Given the description of an element on the screen output the (x, y) to click on. 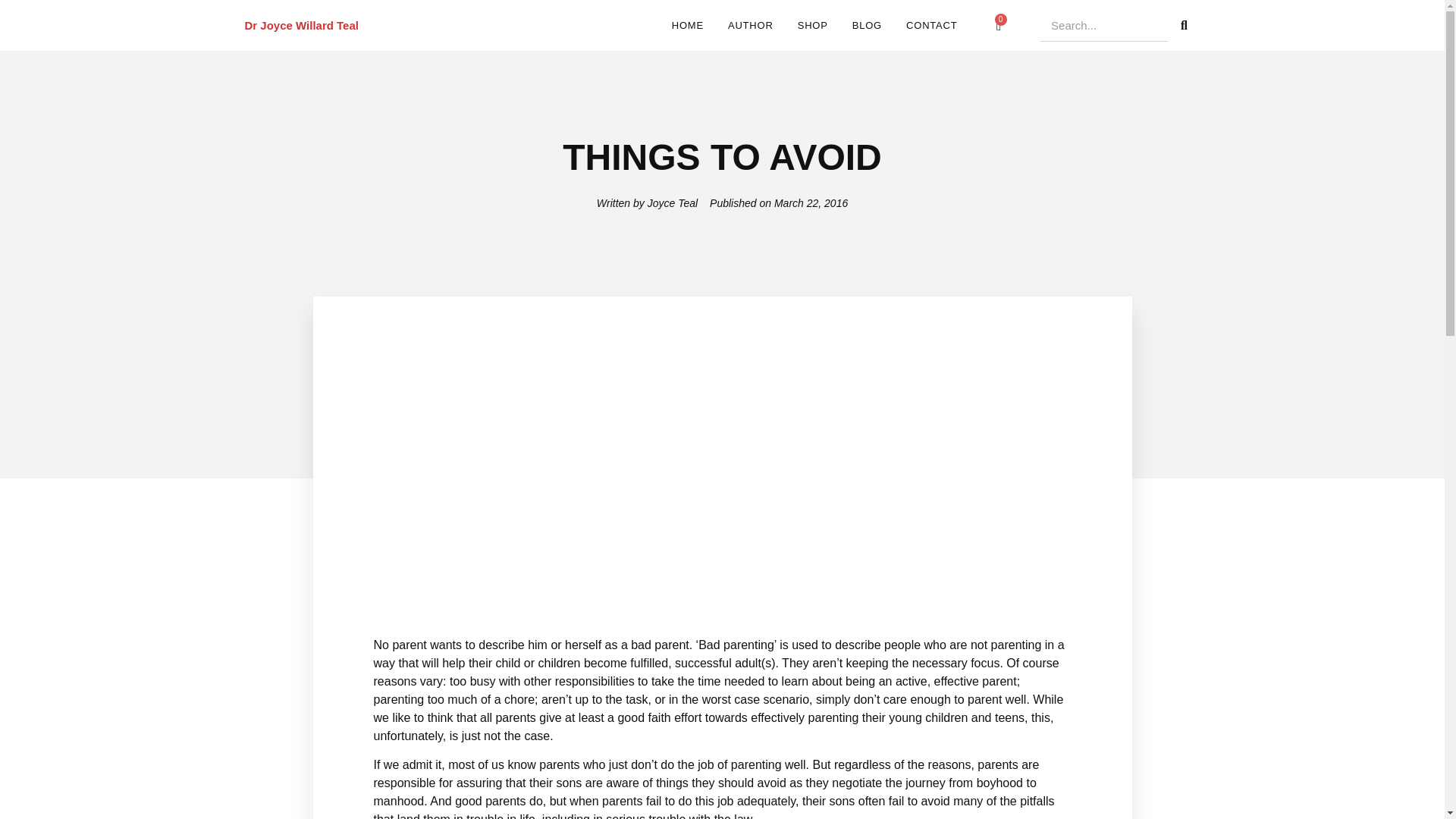
CONTACT (930, 25)
Written by Joyce Teal (646, 202)
Published on March 22, 2016 (778, 202)
Dr Joyce Willard Teal (301, 24)
AUTHOR (750, 25)
HOME (687, 25)
0 (999, 24)
